Given the description of an element on the screen output the (x, y) to click on. 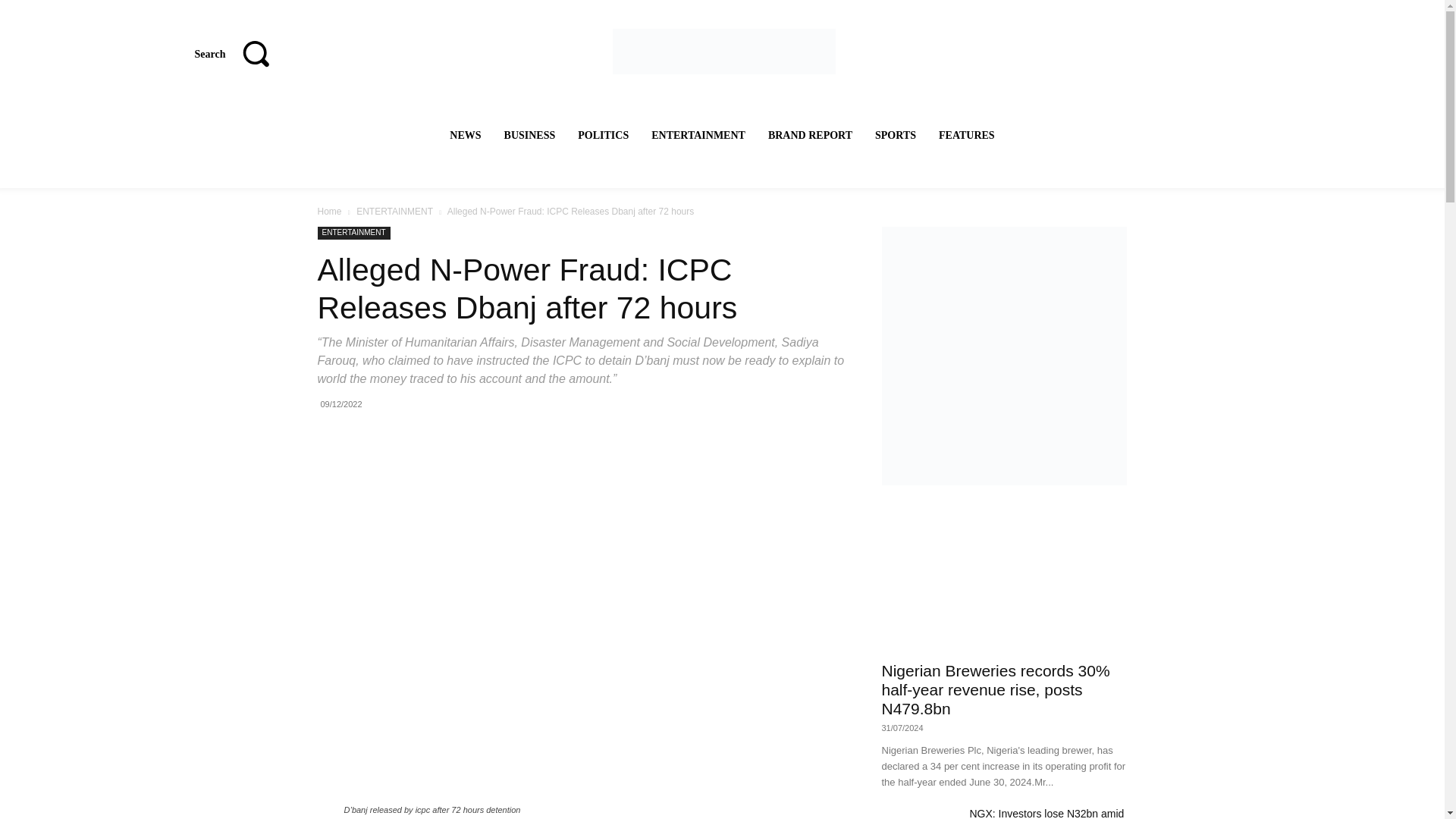
SPORTS (895, 135)
FEATURES (967, 135)
POLITICS (603, 135)
BRAND REPORT (810, 135)
NEWS (464, 135)
BUSINESS (529, 135)
View all posts in ENTERTAINMENT (394, 211)
ENTERTAINMENT (697, 135)
Search (239, 52)
